Given the description of an element on the screen output the (x, y) to click on. 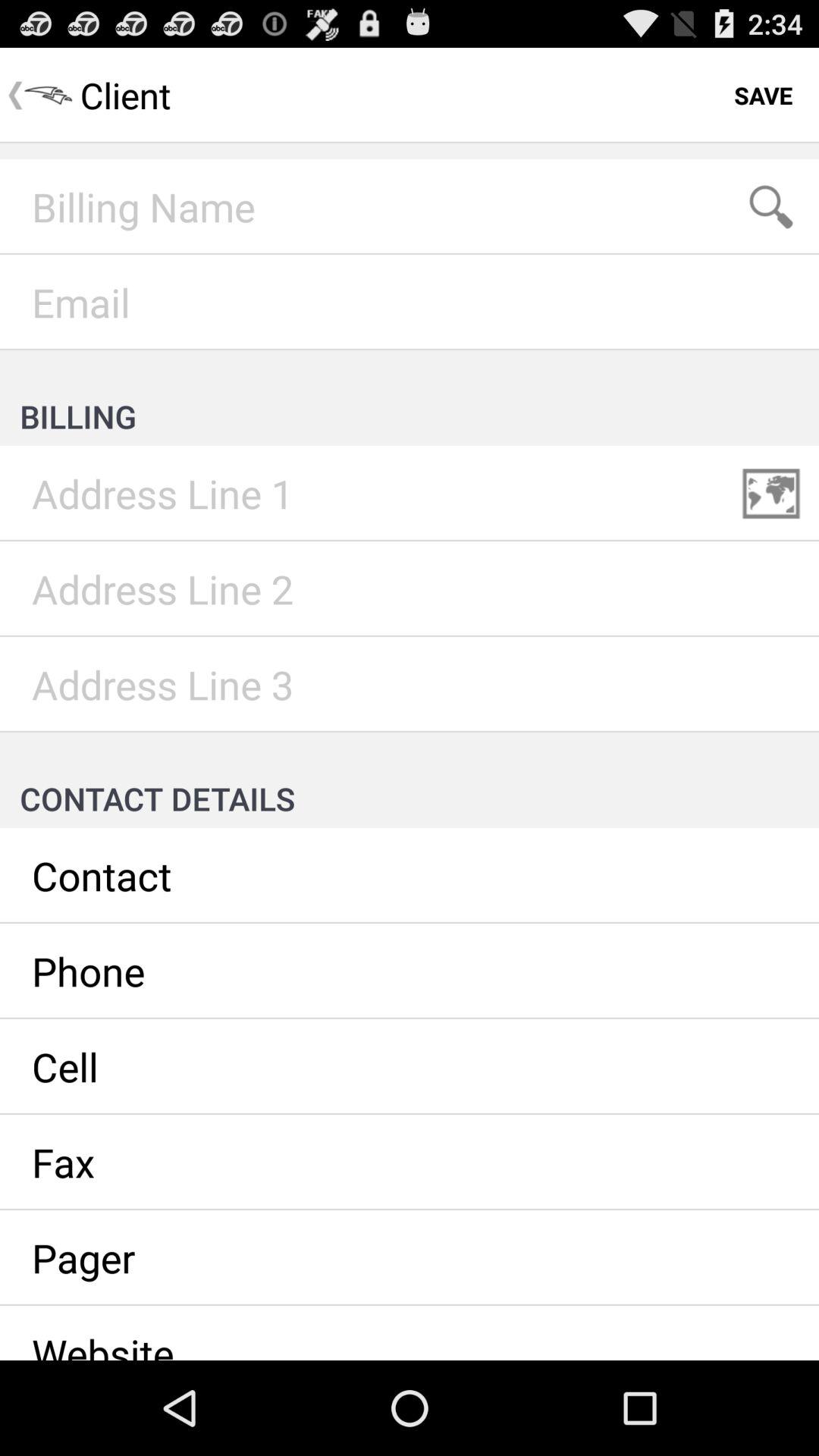
insert address (409, 589)
